Given the description of an element on the screen output the (x, y) to click on. 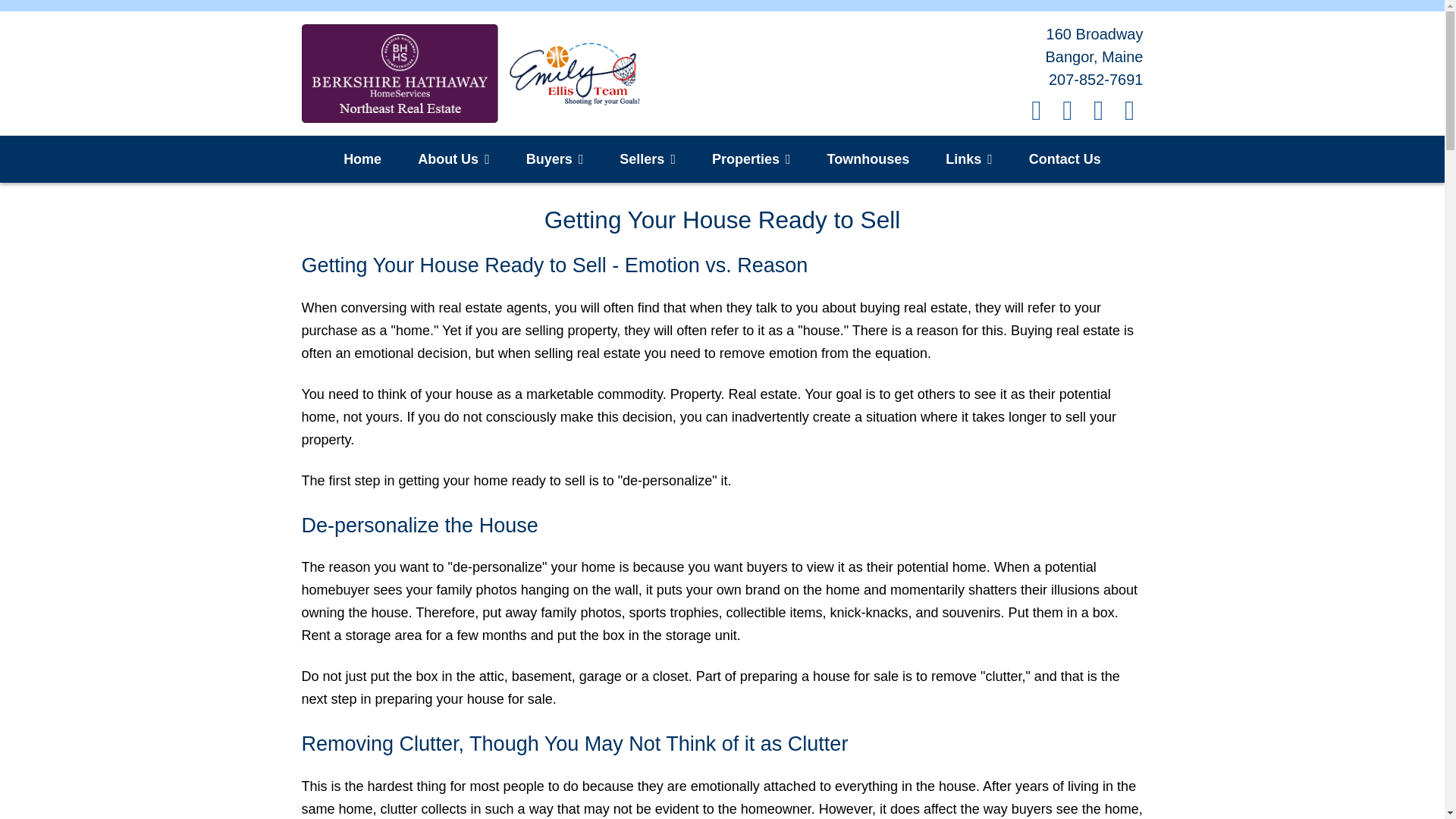
Links (968, 158)
Properties (751, 158)
Sellers (647, 158)
Email (1130, 108)
Home (362, 158)
Instagram (1069, 108)
207-852-7691 (1095, 79)
Townhouses (868, 158)
Buyers (554, 158)
About Us (454, 158)
